Given the description of an element on the screen output the (x, y) to click on. 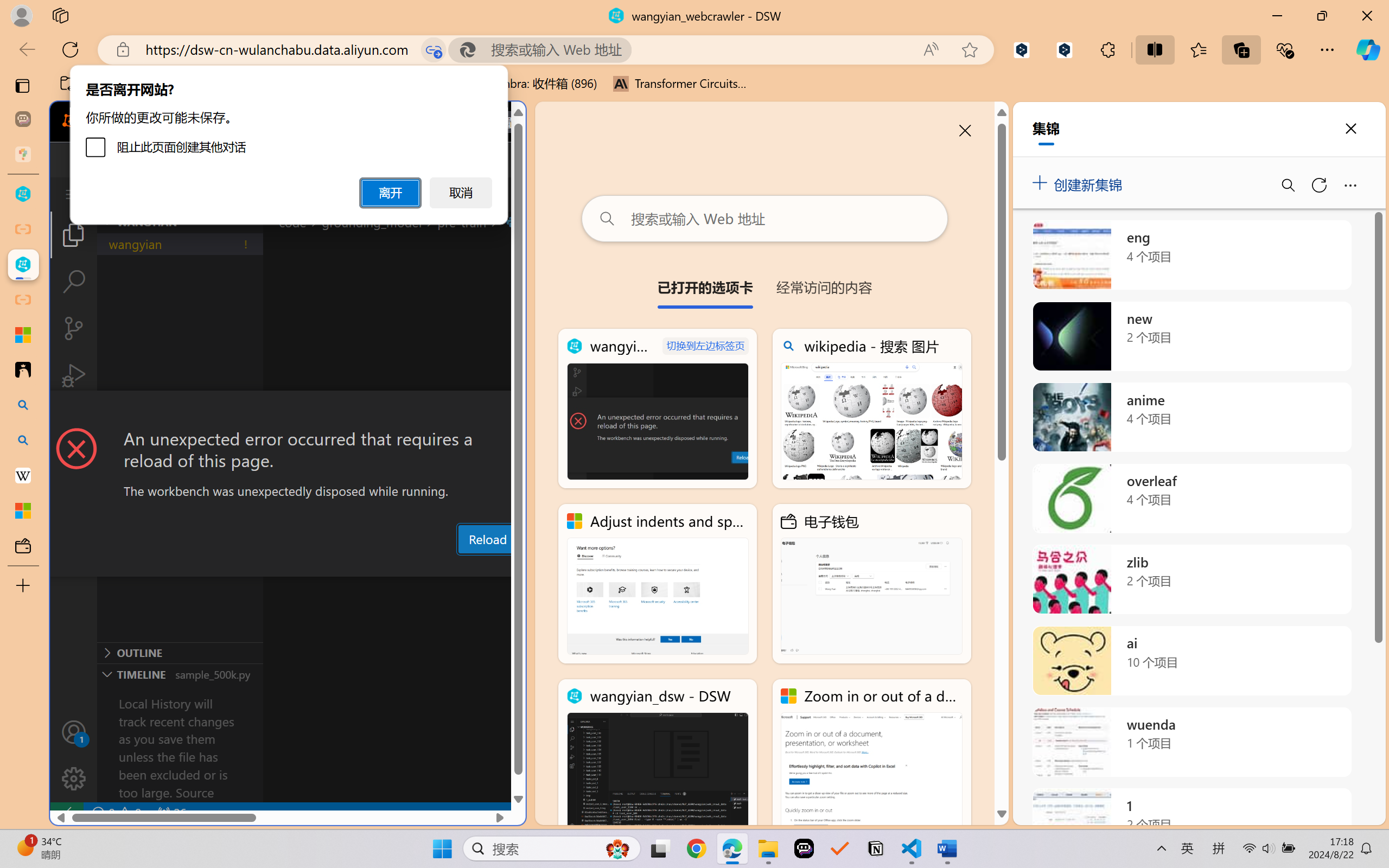
Reload (486, 538)
remote (66, 812)
Google Chrome (696, 848)
Accounts - Sign in requested (73, 732)
